Given the description of an element on the screen output the (x, y) to click on. 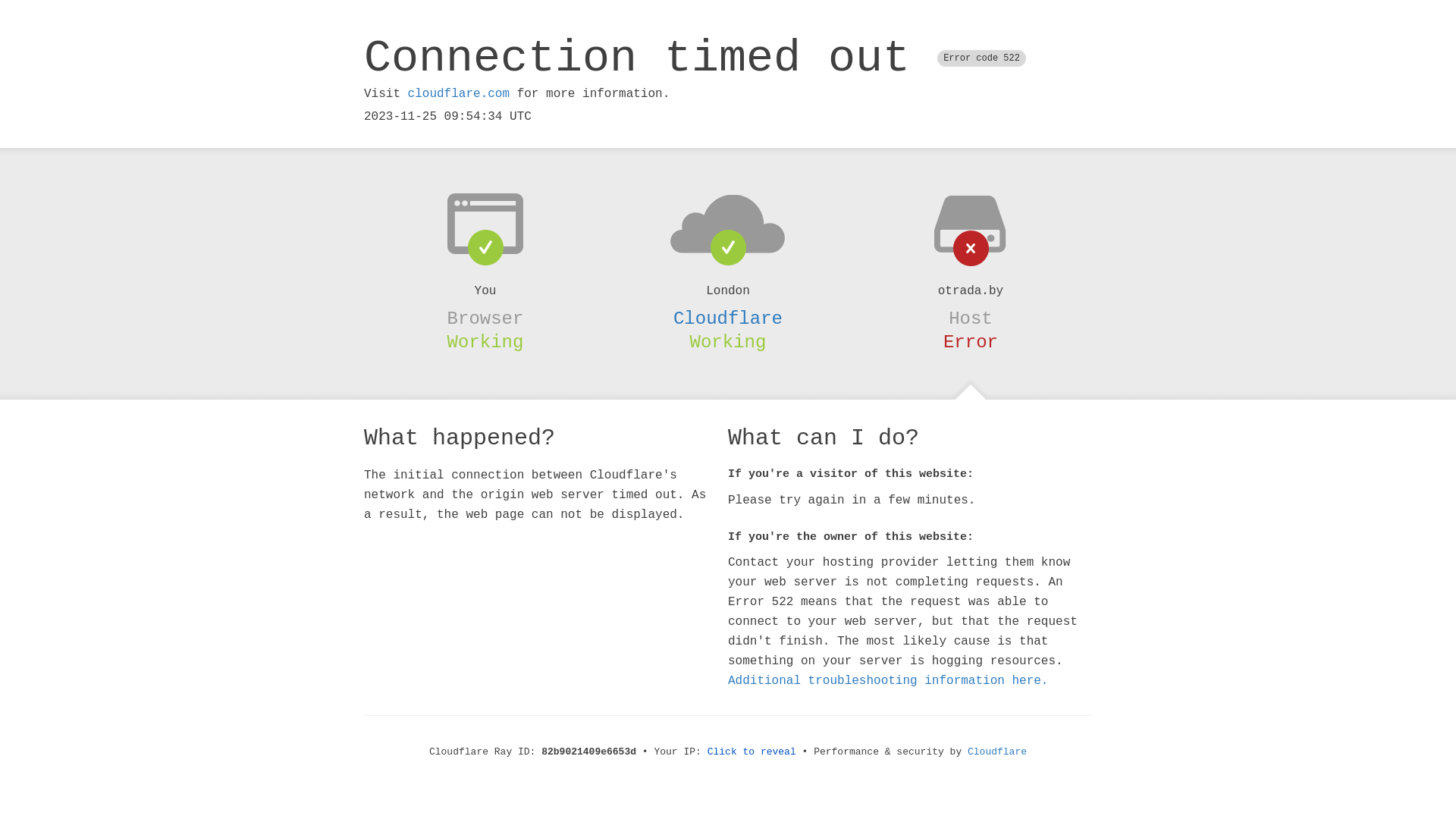
Cloudflare Element type: text (727, 318)
Cloudflare Element type: text (996, 751)
Click to reveal Element type: text (751, 751)
cloudflare.com Element type: text (458, 93)
Additional troubleshooting information here. Element type: text (888, 680)
